Given the description of an element on the screen output the (x, y) to click on. 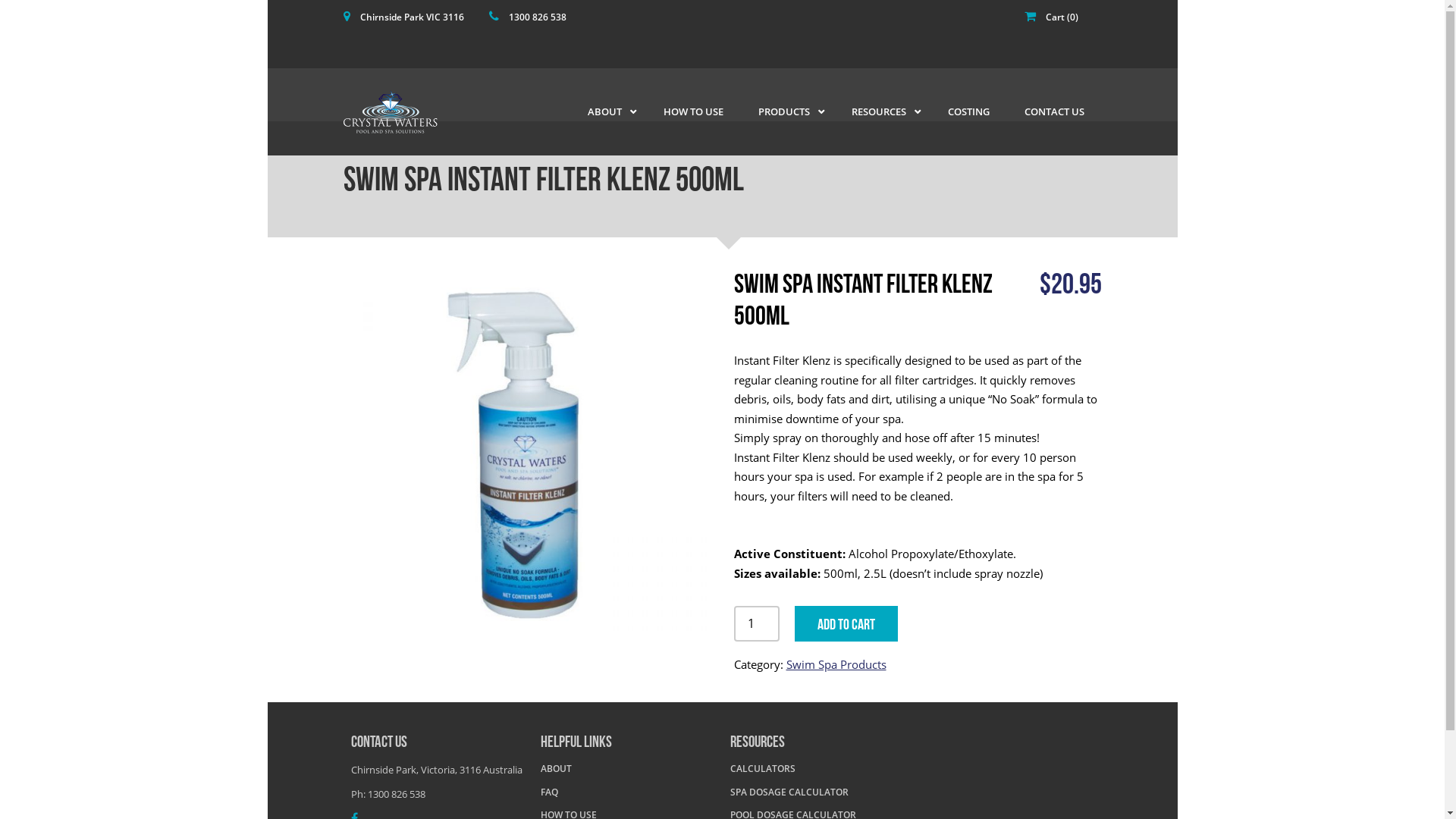
ABOUT Element type: text (555, 768)
CONTACT US Element type: text (1054, 111)
Qty Element type: hover (756, 623)
Crystal Waters Element type: hover (410, 111)
FAQ Element type: text (548, 791)
Cart (0) Element type: text (1061, 16)
Add to cart Element type: text (845, 623)
ABOUT Element type: text (608, 111)
COSTING Element type: text (967, 111)
HOW TO USE Element type: text (693, 111)
Crystal Waters Element type: hover (389, 111)
RESOURCES Element type: text (882, 111)
CALCULATORS Element type: text (761, 768)
PRODUCTS Element type: text (786, 111)
SPA DOSAGE CALCULATOR Element type: text (788, 791)
Swim Spa Products Element type: text (835, 663)
